Given the description of an element on the screen output the (x, y) to click on. 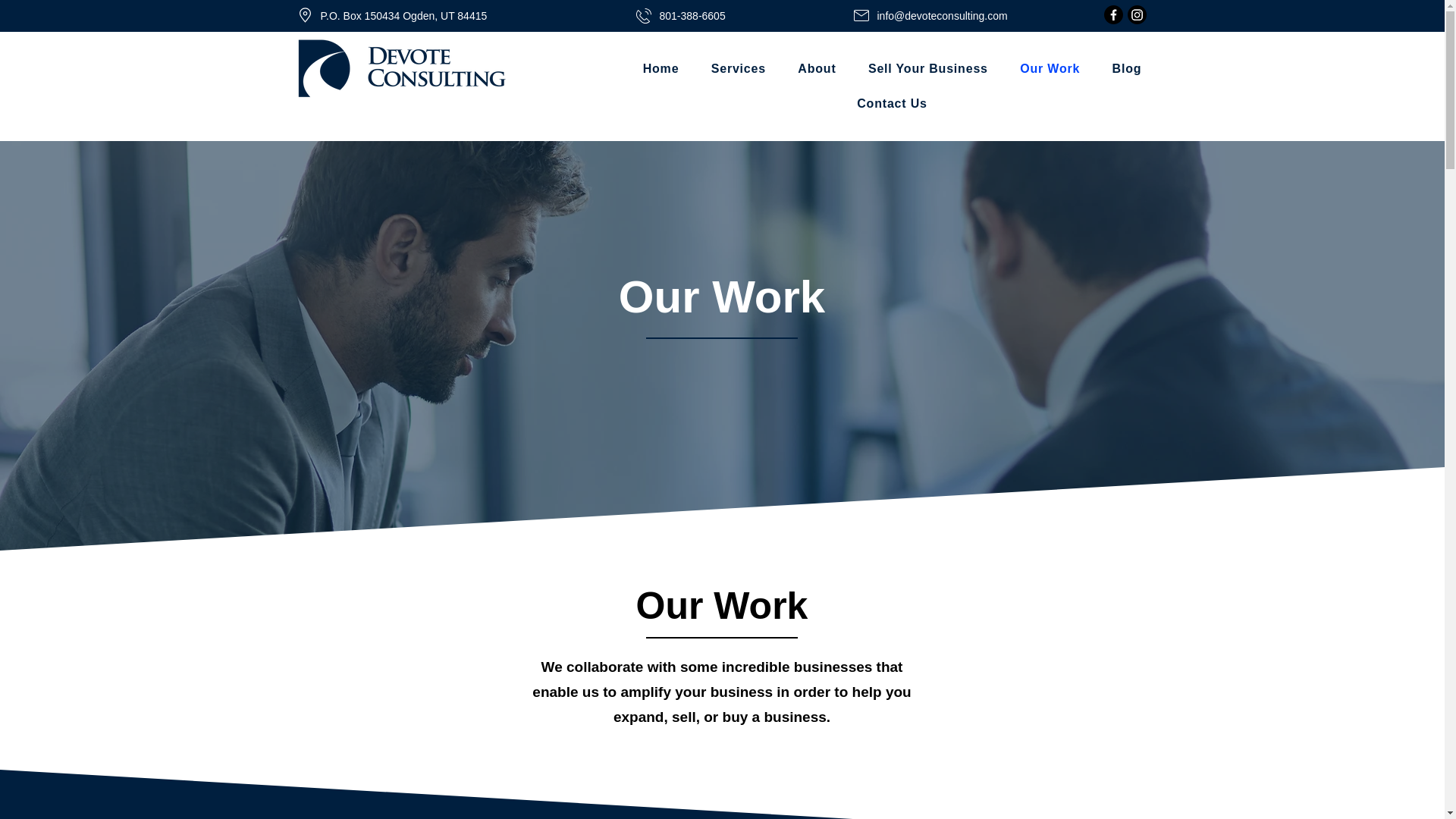
Contact Us (891, 103)
Home (659, 68)
Blog (1126, 68)
Services (738, 68)
Sell Your Business (928, 68)
801-388-6605 (692, 15)
About (816, 68)
Our Work (1050, 68)
